Given the description of an element on the screen output the (x, y) to click on. 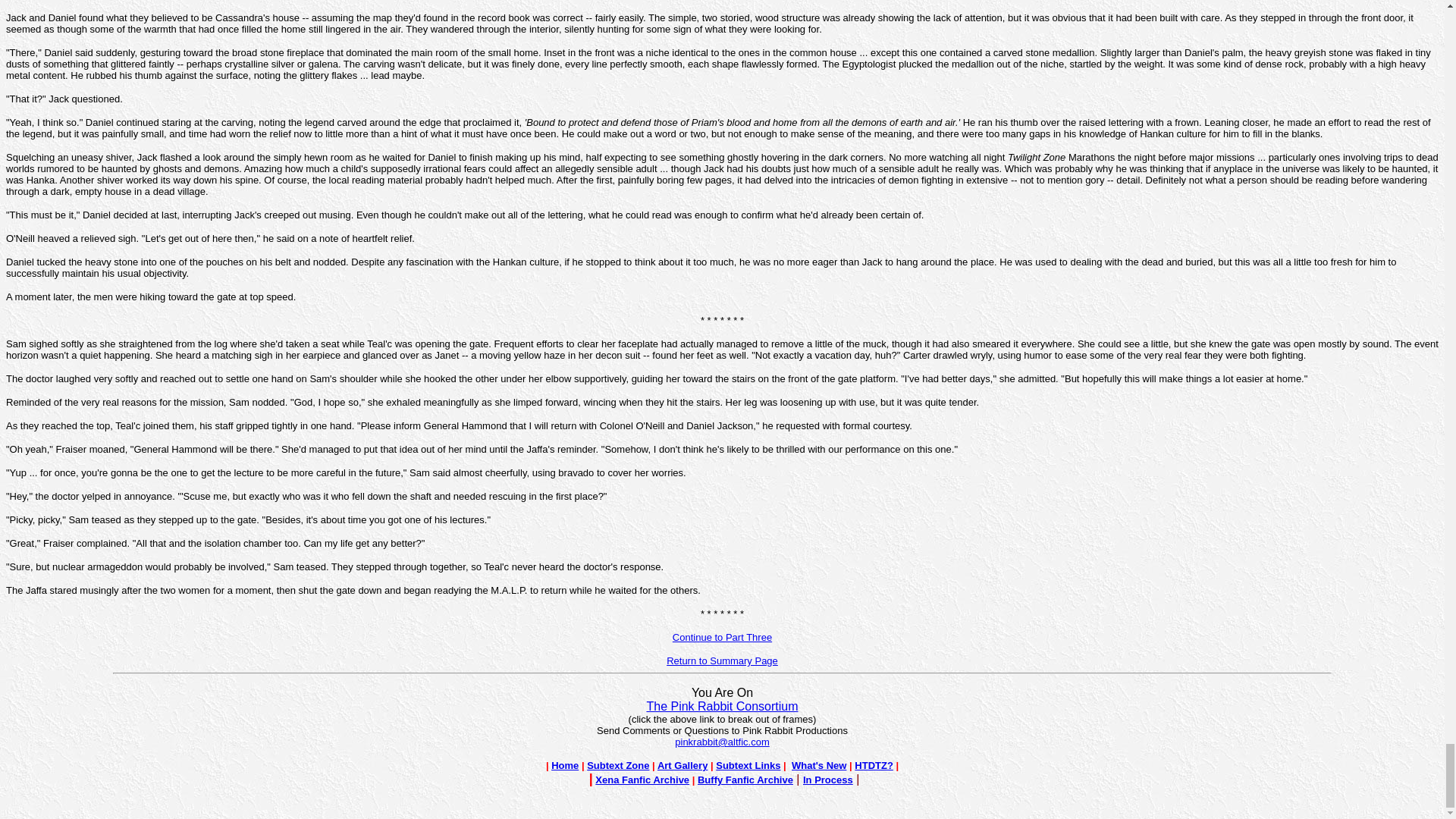
Subtext Zone (617, 764)
What's New (818, 765)
Buffy Fanfic Archive (745, 779)
Xena Fanfic Archive (641, 779)
HTDTZ? (873, 765)
Home (564, 764)
In Process (828, 779)
The Pink Rabbit Consortium (721, 706)
Return to Summary Page (721, 659)
Art Gallery (682, 765)
Subtext Links (748, 765)
Continue to Part Three (721, 635)
